Given the description of an element on the screen output the (x, y) to click on. 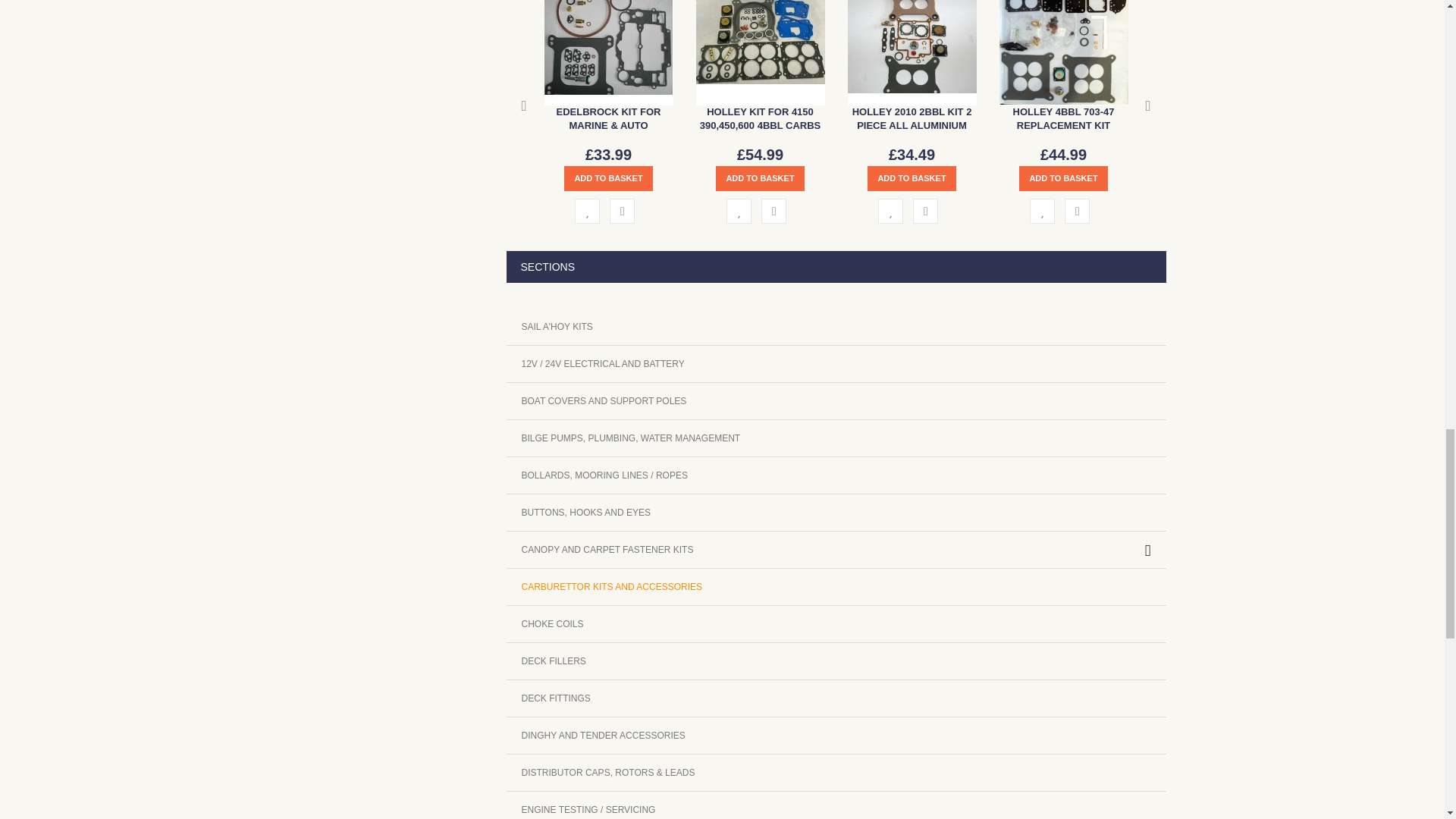
Add to Basket (608, 178)
Add to Basket (911, 178)
Add to Basket (759, 178)
